Given the description of an element on the screen output the (x, y) to click on. 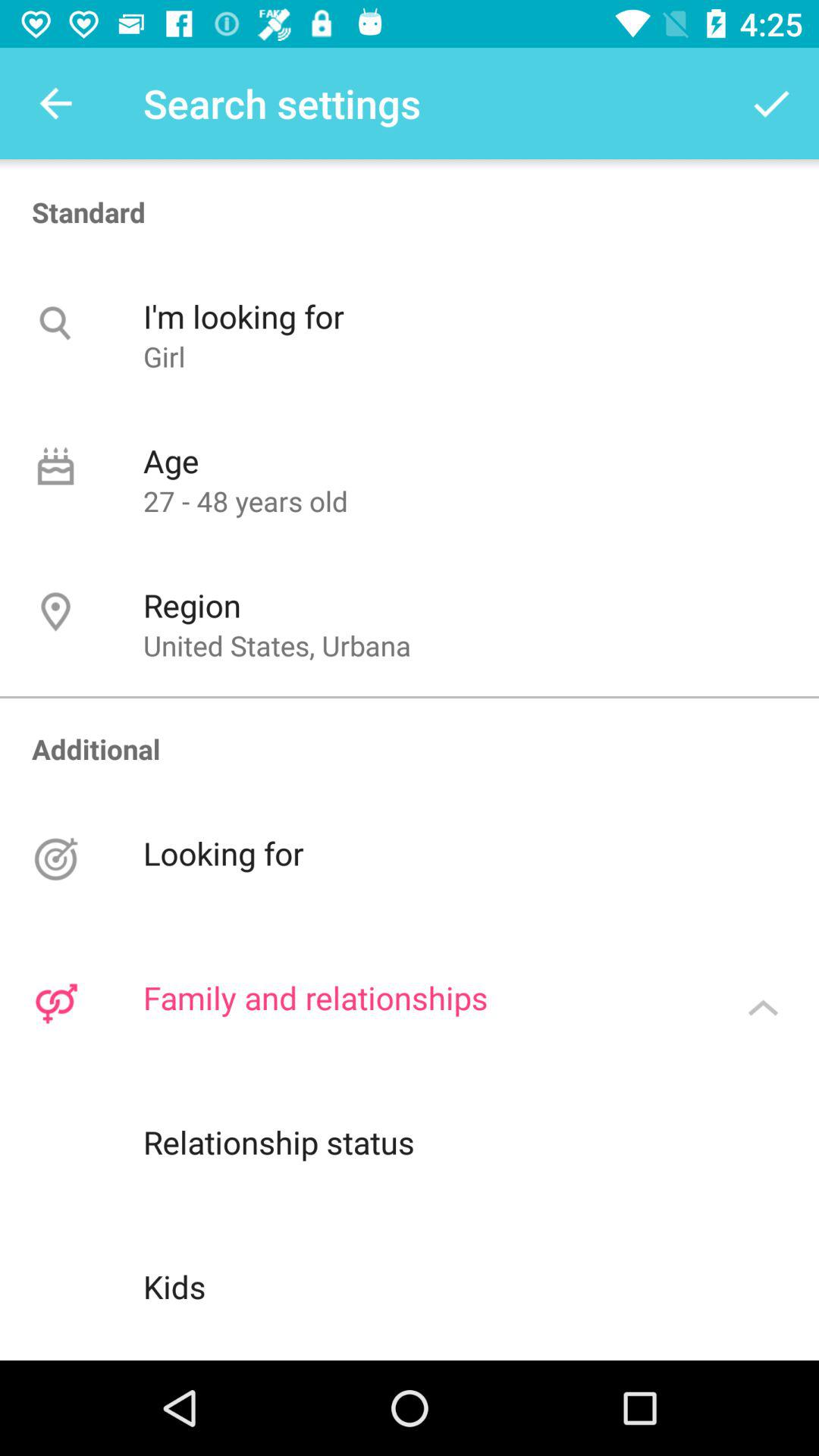
choose app to the left of search settings app (55, 103)
